Given the description of an element on the screen output the (x, y) to click on. 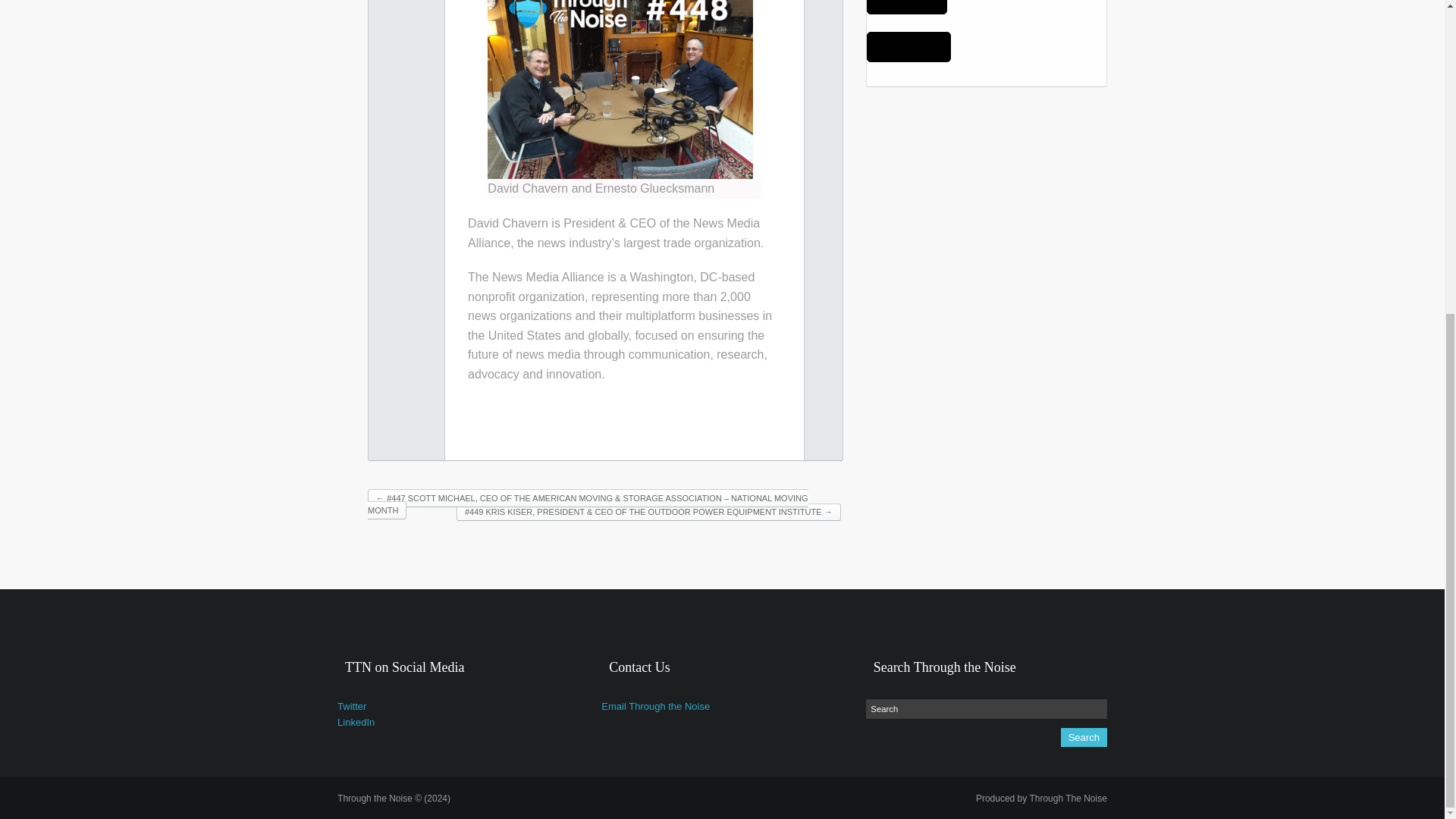
Through the Noise (393, 798)
Twitter (351, 706)
Produced by Through The Noise (1040, 798)
Listen on Stitcher (908, 46)
Search (1083, 737)
Search (986, 709)
Listen on Spotify (906, 7)
Email Through the Noise (655, 706)
LinkedIn (355, 722)
Search (1083, 737)
